Given the description of an element on the screen output the (x, y) to click on. 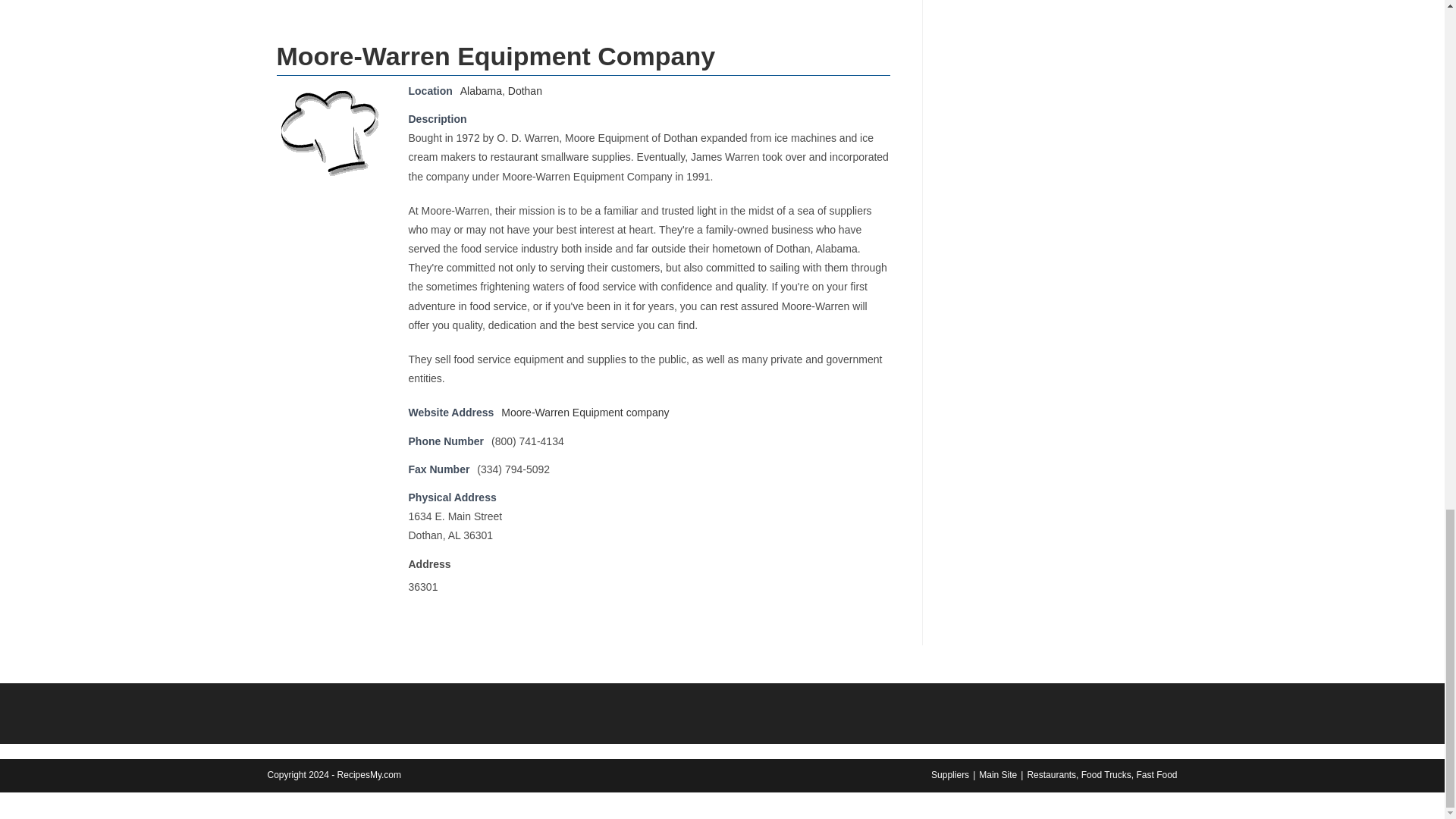
Moore-Warren Equipment Company (330, 130)
Moore-Warren Equipment company (584, 412)
